Given the description of an element on the screen output the (x, y) to click on. 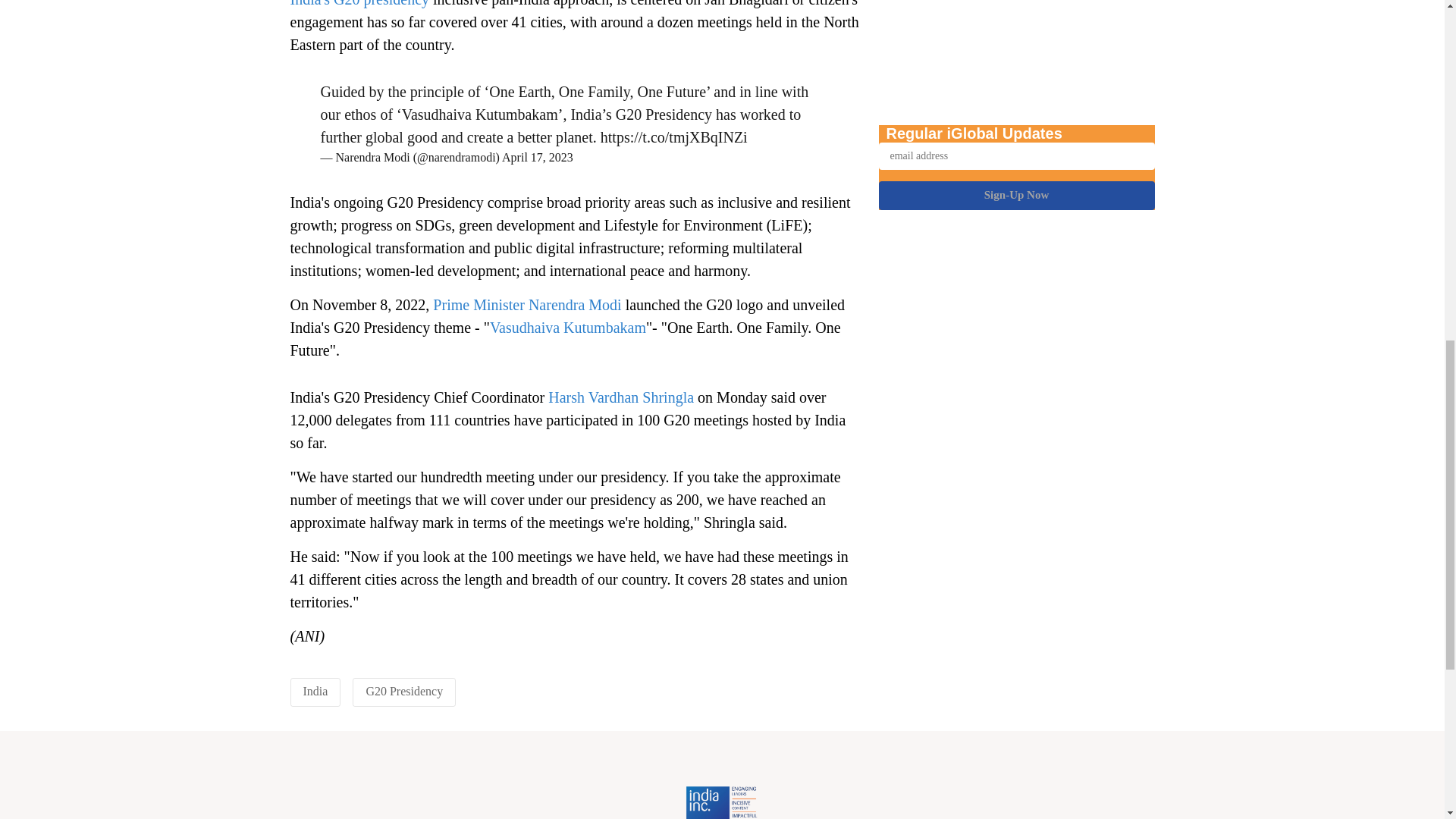
Sign-Up Now (1015, 111)
